Given the description of an element on the screen output the (x, y) to click on. 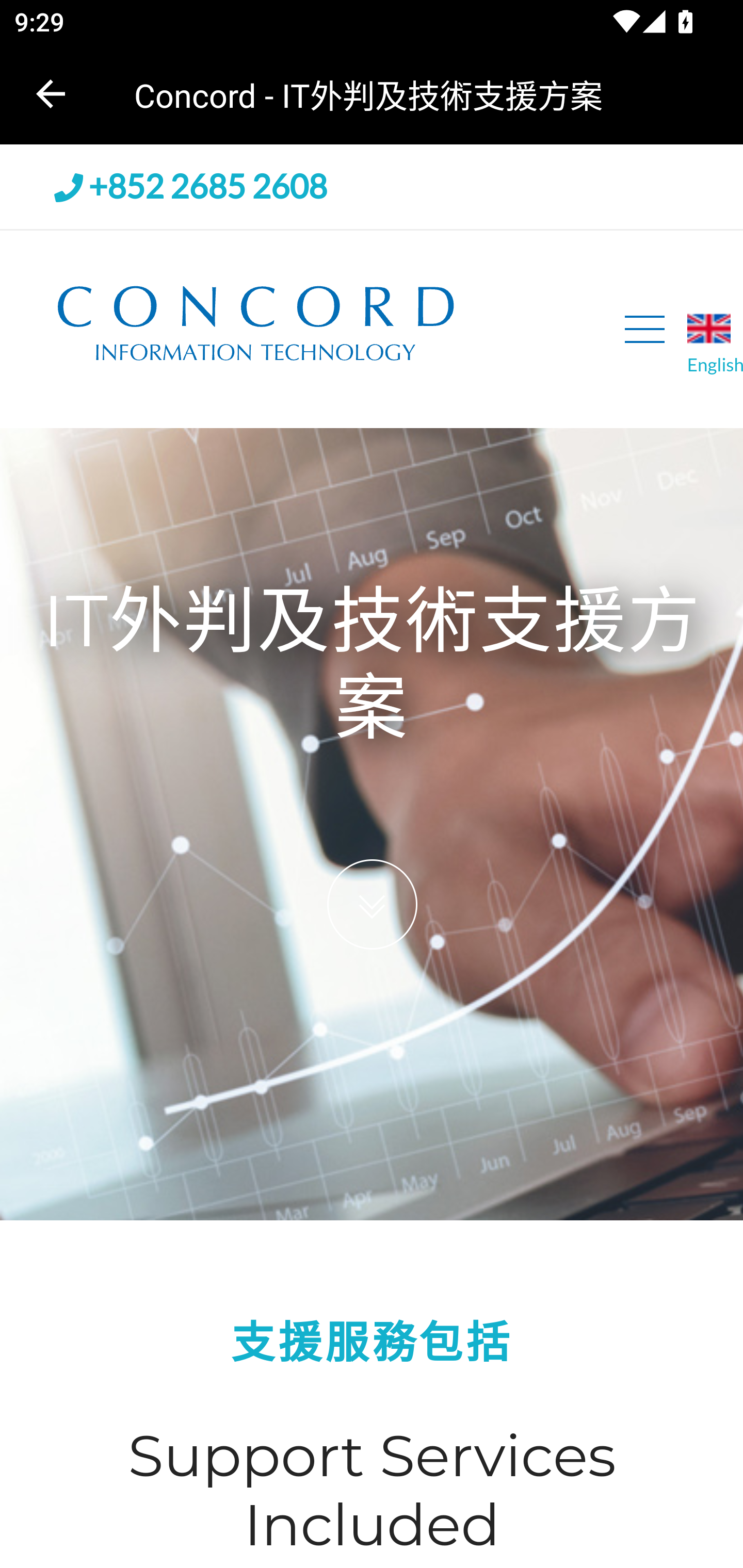
Navigate up (50, 93)
+852 2685 2608  +852 2685 2608 (191, 187)
javascript:void(0); (645, 328)
 English English (714, 343)
 (372, 905)
